Given the description of an element on the screen output the (x, y) to click on. 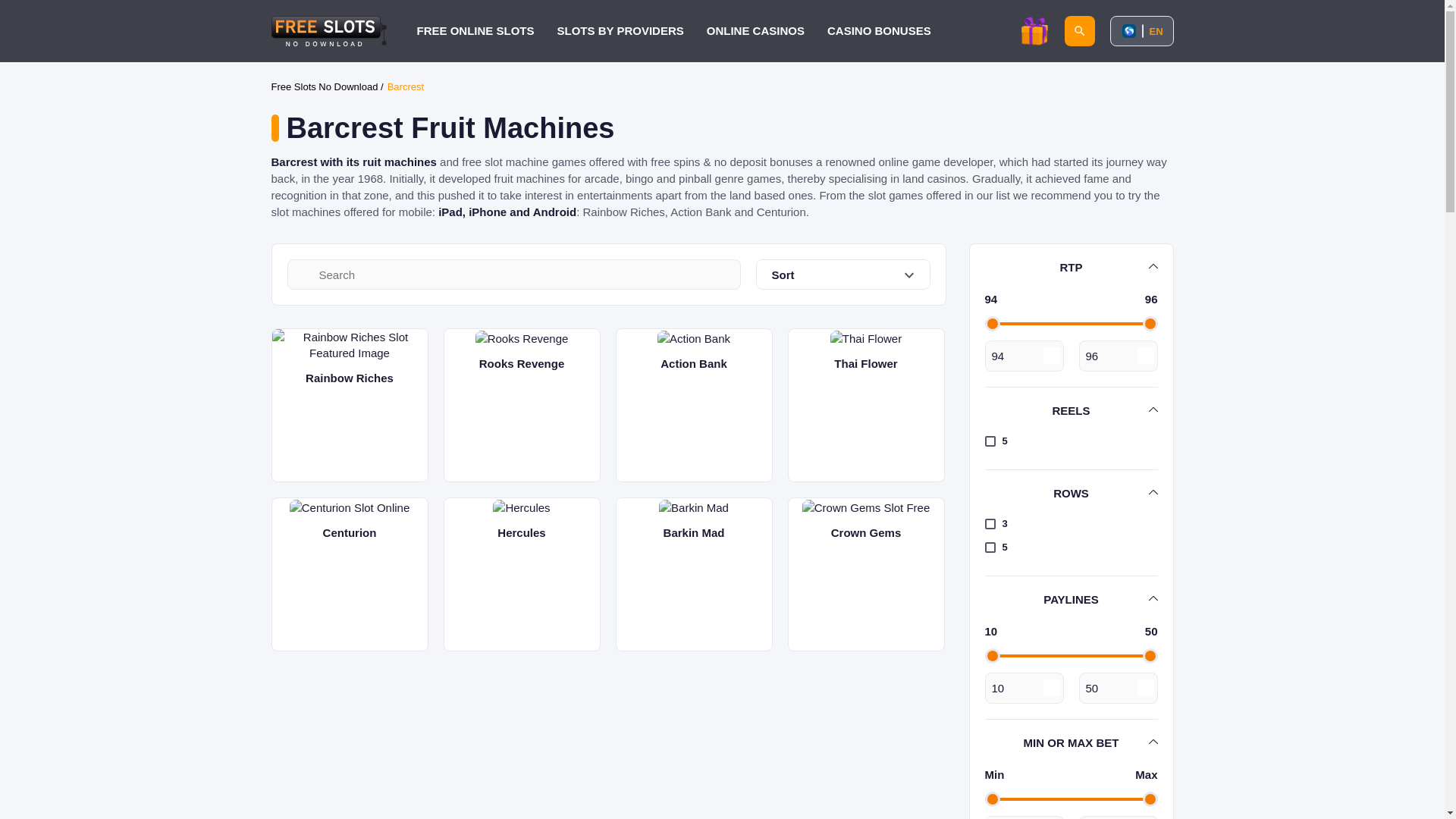
thai flower (865, 338)
94 (1023, 355)
96 (1117, 355)
FREE ONLINE SLOTS (475, 30)
Thai Flower (865, 405)
Rooks Revenge (520, 405)
Barkin Mad (694, 574)
50 (1117, 687)
0 (1023, 817)
rooks-revenge (522, 338)
Action-Bank-free-slot (694, 338)
Rainbow Riches Slot Featured Image (348, 345)
10 (1023, 687)
Action Bank (694, 405)
